Given the description of an element on the screen output the (x, y) to click on. 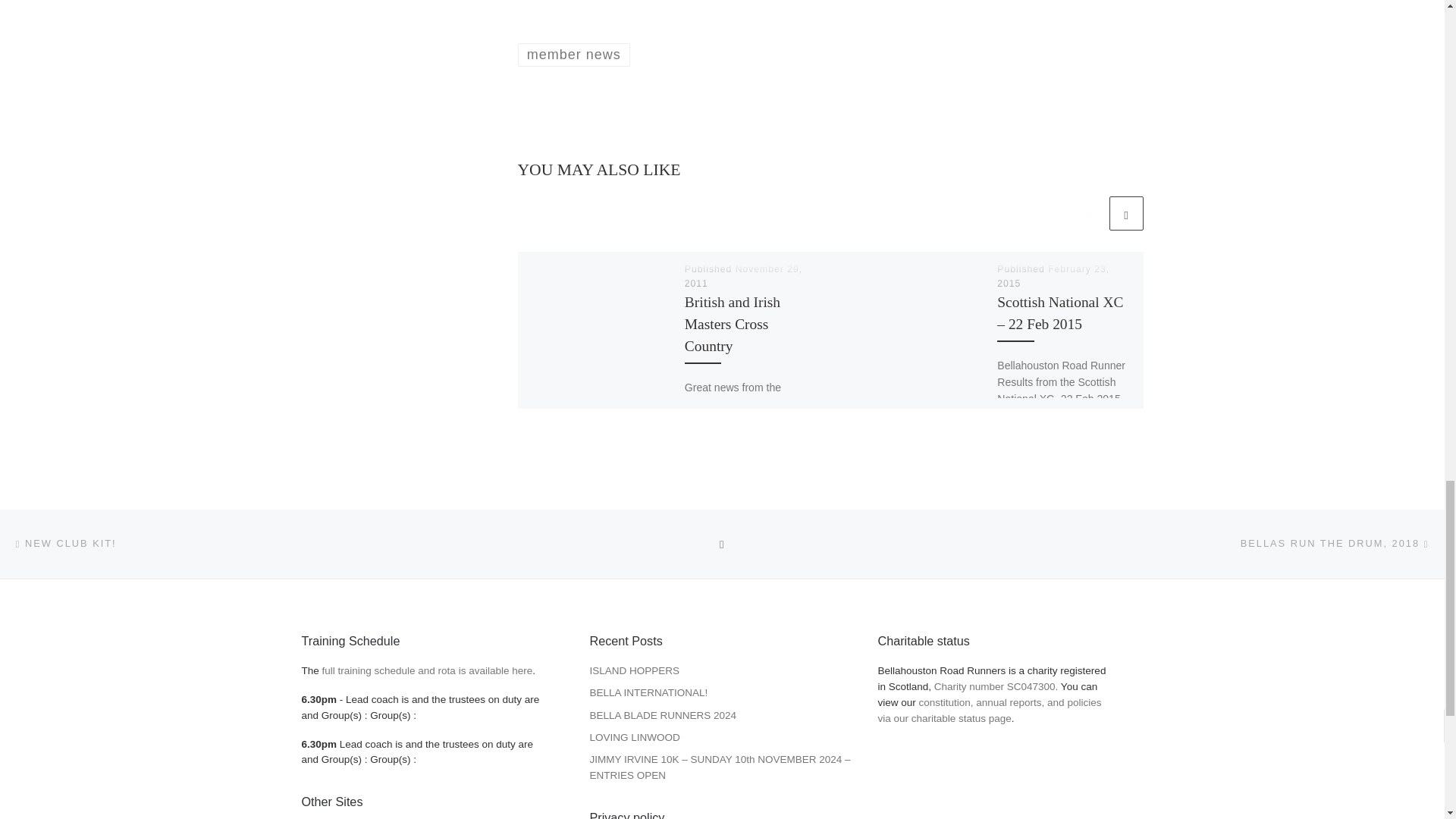
View all posts in member news (573, 54)
Next related articles (1125, 213)
Previous related articles (1088, 213)
